Given the description of an element on the screen output the (x, y) to click on. 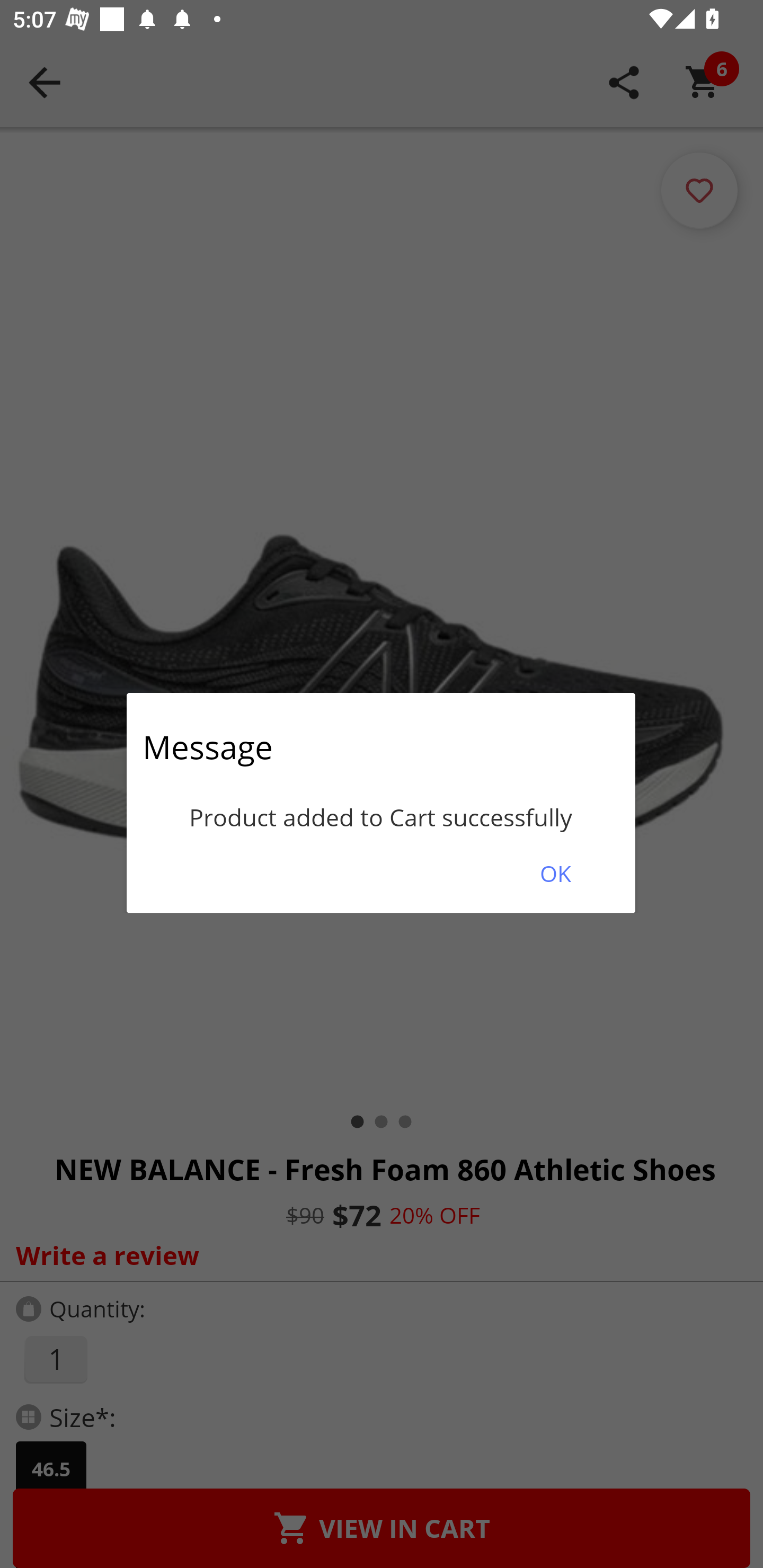
OK (555, 873)
